Given the description of an element on the screen output the (x, y) to click on. 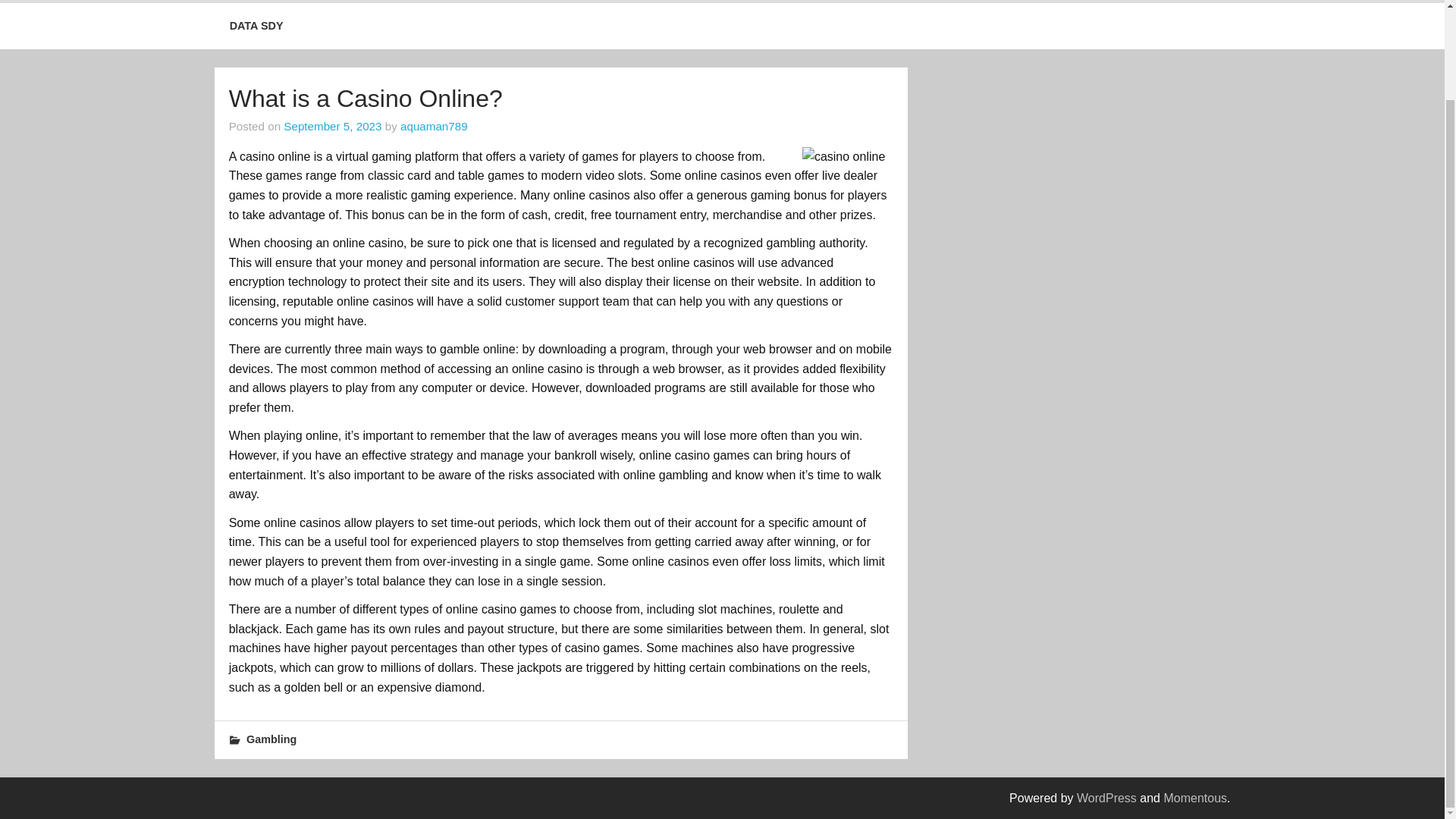
September 5, 2023 (332, 125)
WordPress (1107, 797)
Momentous WordPress Theme (1195, 797)
Momentous (1195, 797)
Gambling (271, 739)
DATA SDY (256, 25)
View all posts by aquaman789 (433, 125)
aquaman789 (433, 125)
6:07 am (332, 125)
WordPress (1107, 797)
